Given the description of an element on the screen output the (x, y) to click on. 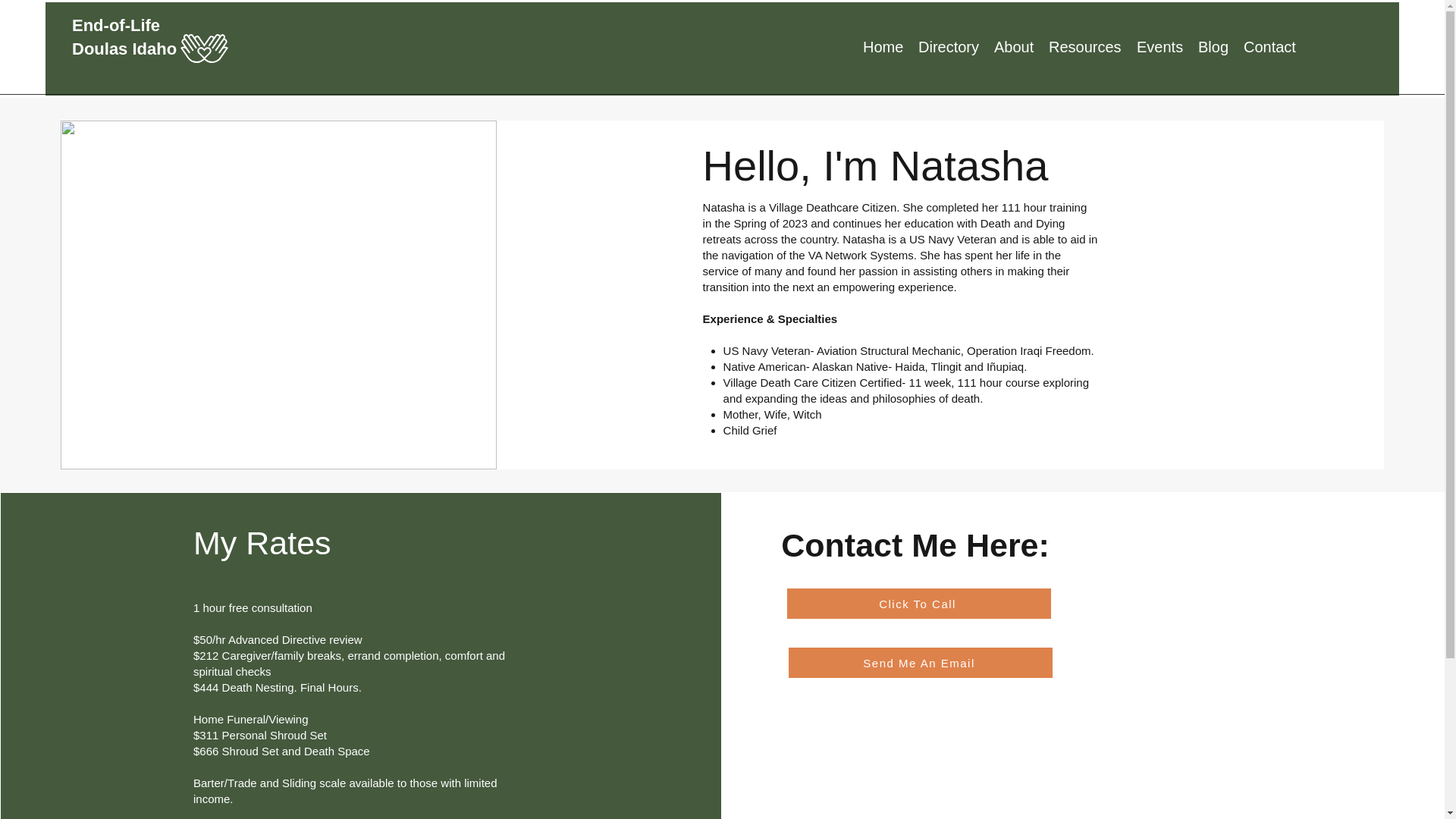
Click To Call (919, 603)
Send Me An Email (920, 662)
Resources (1085, 45)
Contact (1269, 45)
Blog (1213, 45)
Events (1160, 45)
End-of-Life Doulas Idaho (123, 36)
Directory (949, 45)
Home (883, 45)
About (1014, 45)
